Given the description of an element on the screen output the (x, y) to click on. 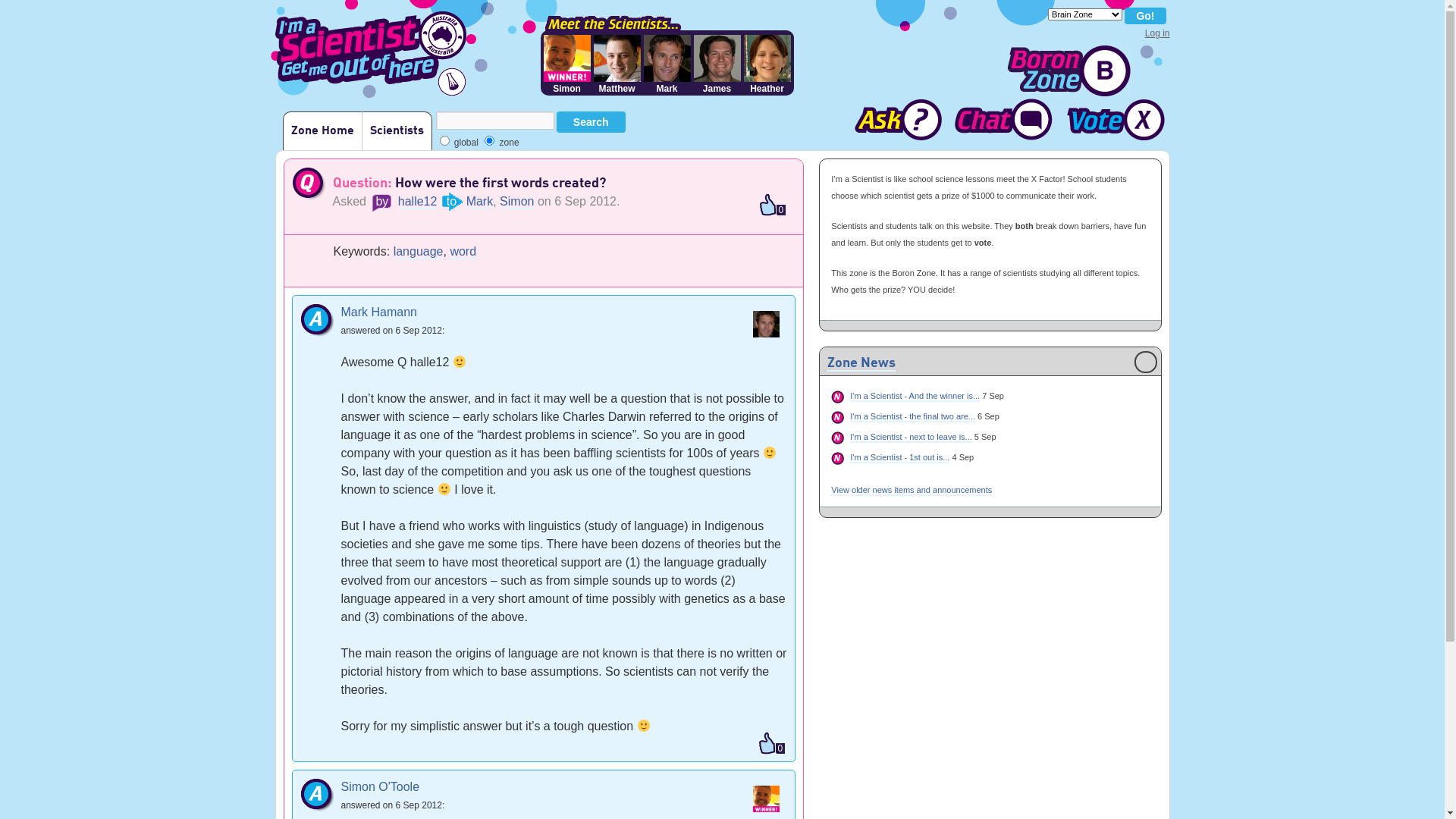
0 Element type: text (772, 205)
Heather Element type: text (766, 64)
Go! Element type: text (1144, 15)
Simon Element type: text (565, 64)
I'm a Scientist - next to leave is... Element type: text (910, 437)
Zone News Element type: text (861, 363)
Scientists Element type: text (395, 130)
Mark Element type: text (479, 201)
Simon Element type: text (516, 201)
Go to Zone home Element type: hover (1067, 70)
View older news items and announcements Element type: text (911, 490)
I'm a Scientist - 1st out is... Element type: text (899, 457)
Mark Element type: text (666, 64)
0 Element type: text (771, 744)
I'm a Scientist - the final two are... Element type: text (912, 416)
halle12 Element type: text (417, 201)
I'm a Scientist - And the winner is... Element type: text (914, 396)
language Element type: text (418, 251)
James Element type: text (716, 64)
word Element type: text (462, 251)
Zone Home Element type: text (321, 130)
Simon O'Toole Element type: text (380, 787)
Search Element type: text (590, 121)
Log in Element type: text (1157, 33)
Mark Hamann Element type: text (379, 312)
Matthew Element type: text (616, 64)
